Given the description of an element on the screen output the (x, y) to click on. 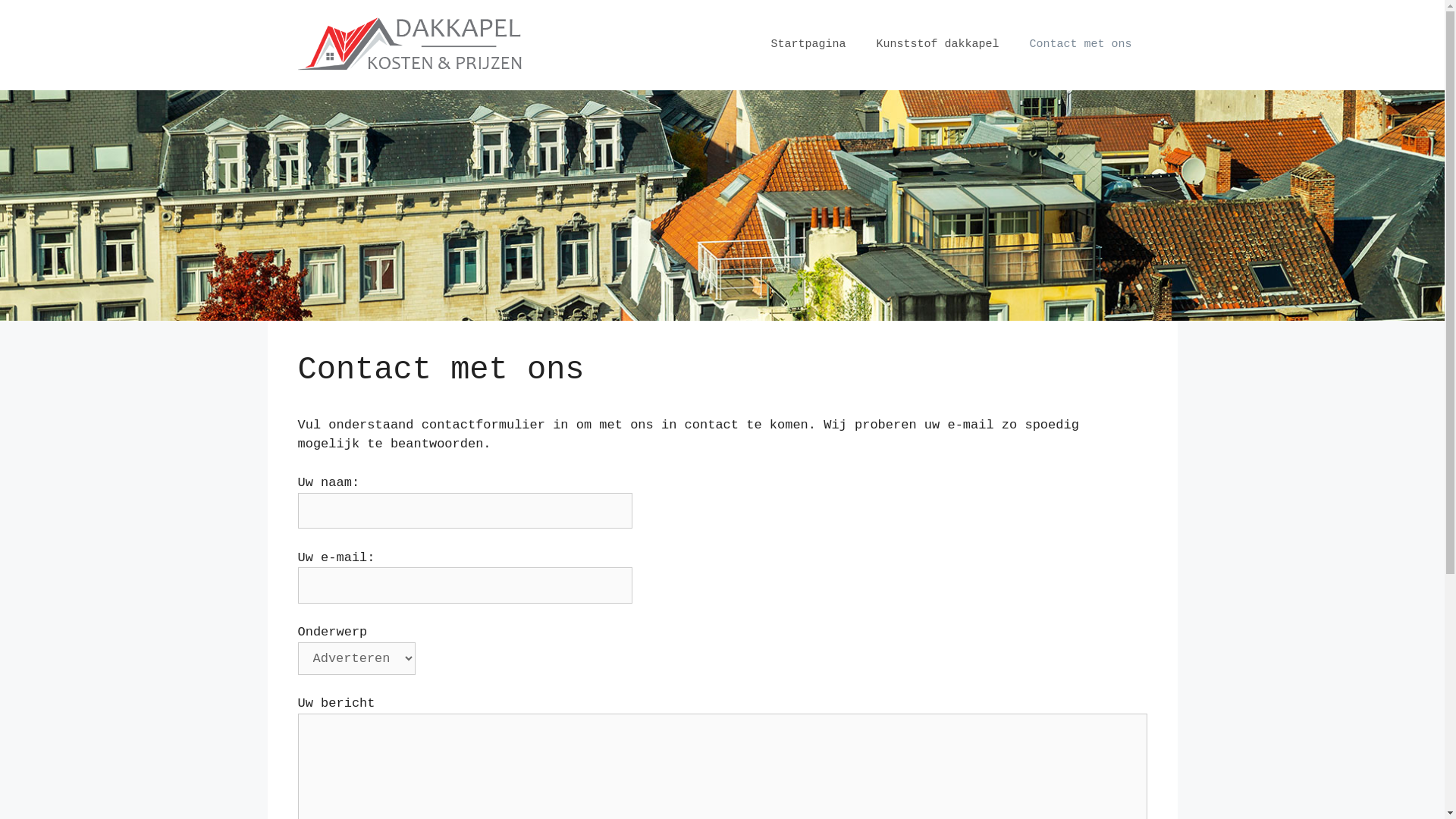
Contact met ons Element type: text (1079, 44)
Startpagina Element type: text (807, 44)
Kunststof dakkapel Element type: text (936, 44)
